Given the description of an element on the screen output the (x, y) to click on. 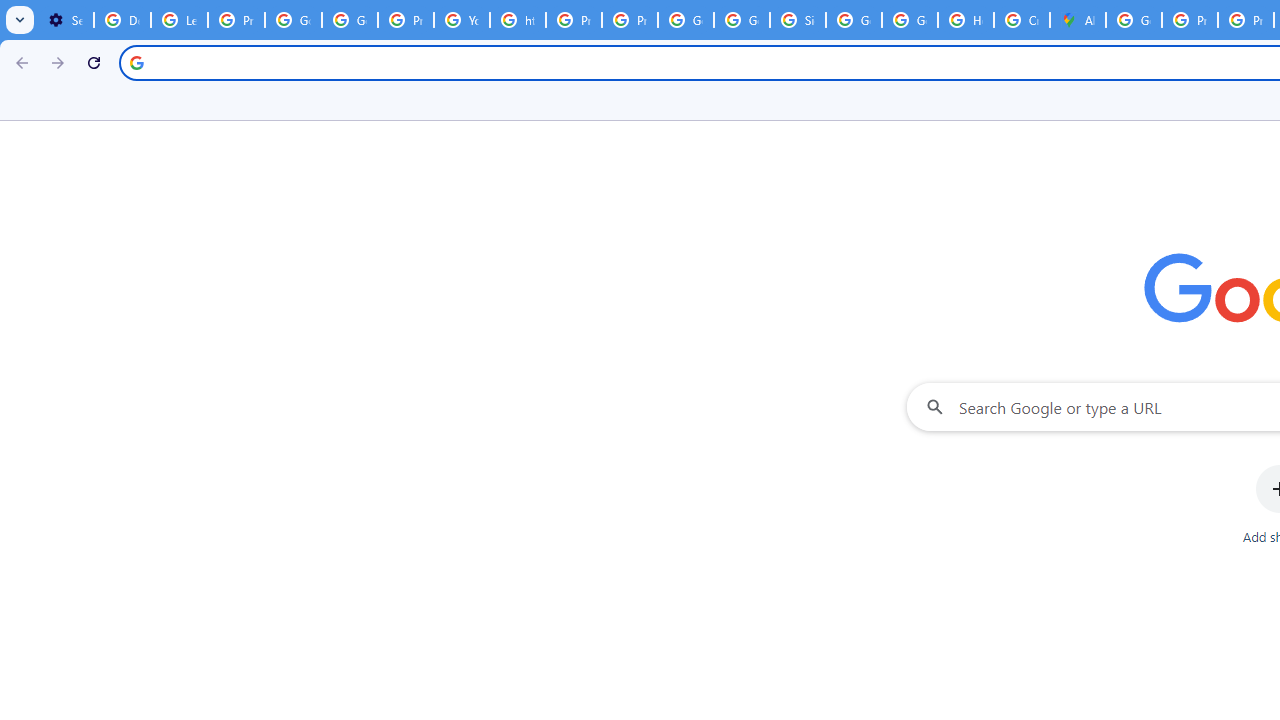
Sign in - Google Accounts (797, 20)
https://scholar.google.com/ (518, 20)
Google Account Help (293, 20)
Privacy Help Center - Policies Help (1190, 20)
Delete photos & videos - Computer - Google Photos Help (122, 20)
Settings - On startup (65, 20)
